Given the description of an element on the screen output the (x, y) to click on. 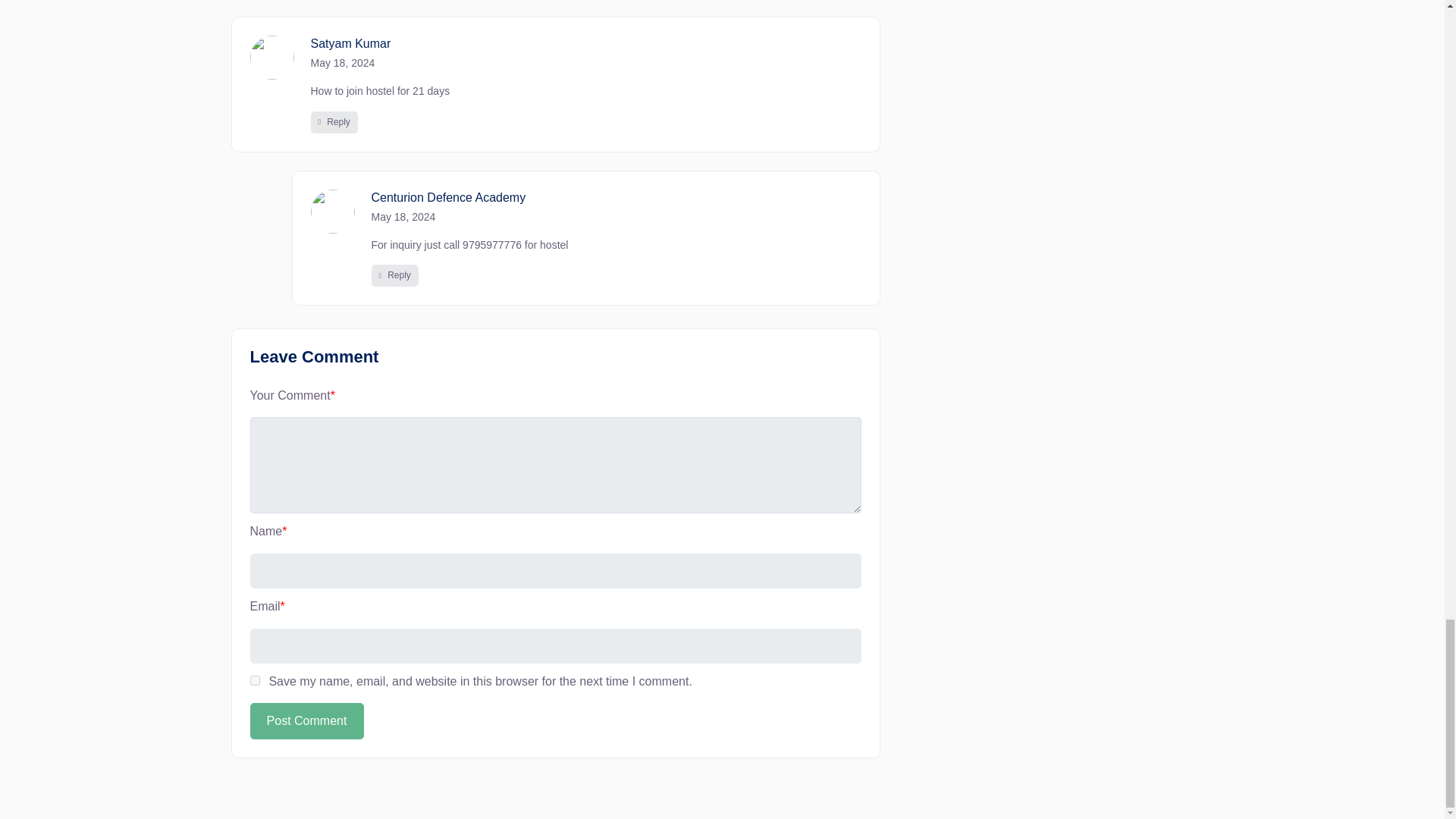
Post Comment (307, 720)
yes (255, 680)
